Given the description of an element on the screen output the (x, y) to click on. 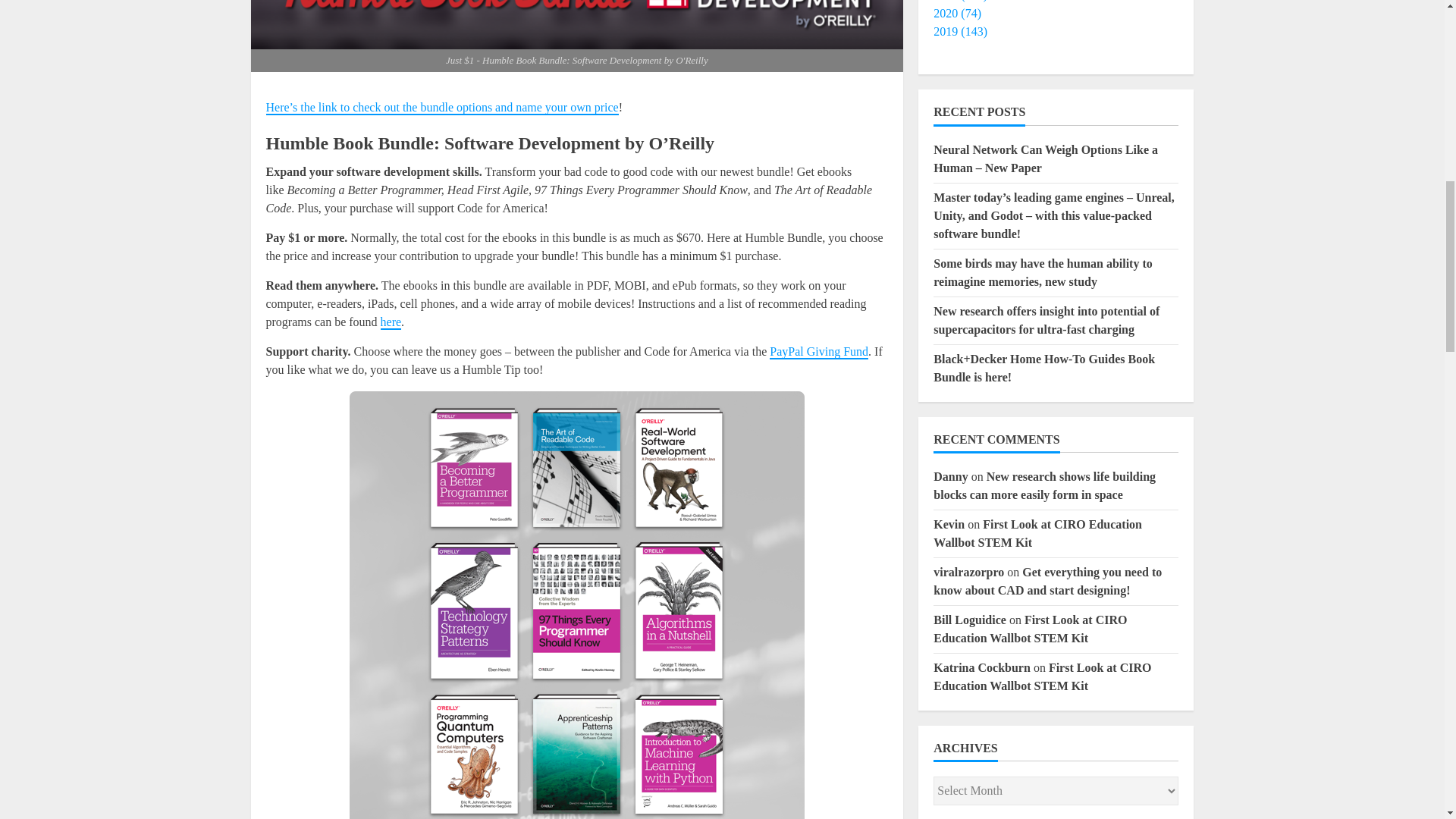
here (390, 322)
